Given the description of an element on the screen output the (x, y) to click on. 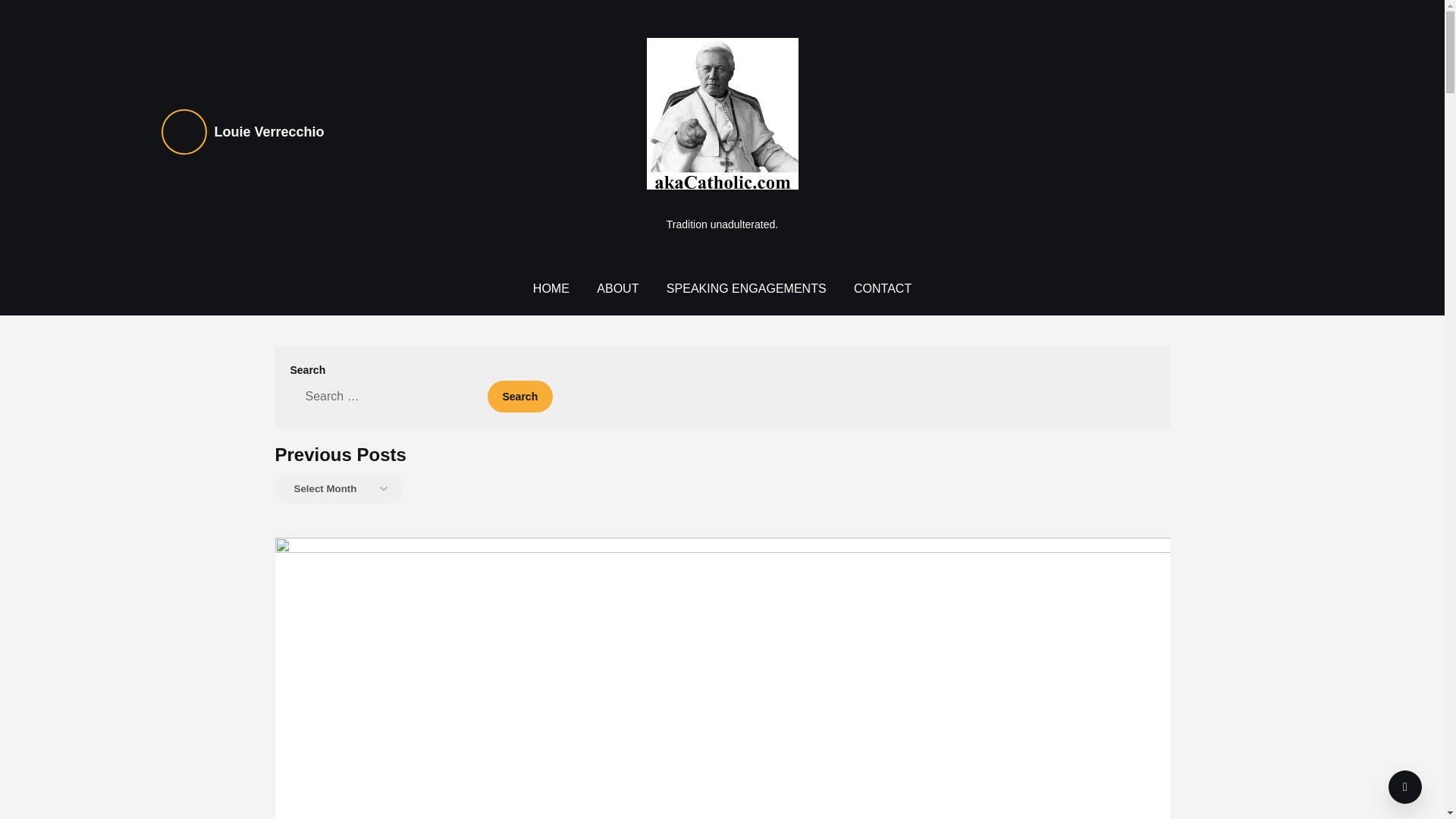
HOME (550, 288)
SPEAKING ENGAGEMENTS (745, 288)
ABOUT (617, 288)
CONTACT (882, 288)
Search (519, 396)
To Top (1405, 786)
Search (519, 396)
Search (519, 396)
